Given the description of an element on the screen output the (x, y) to click on. 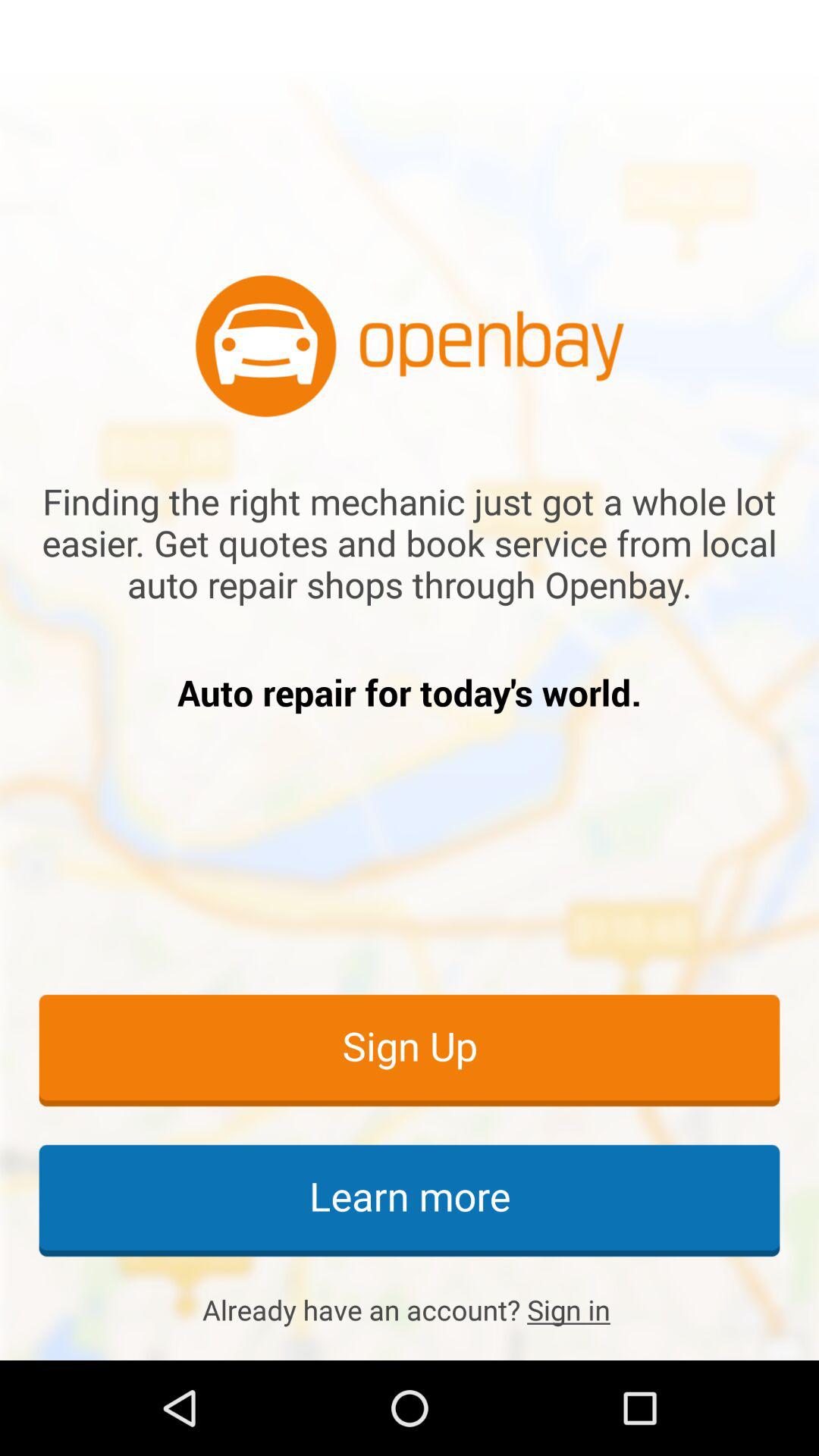
press item above learn more (409, 1049)
